Given the description of an element on the screen output the (x, y) to click on. 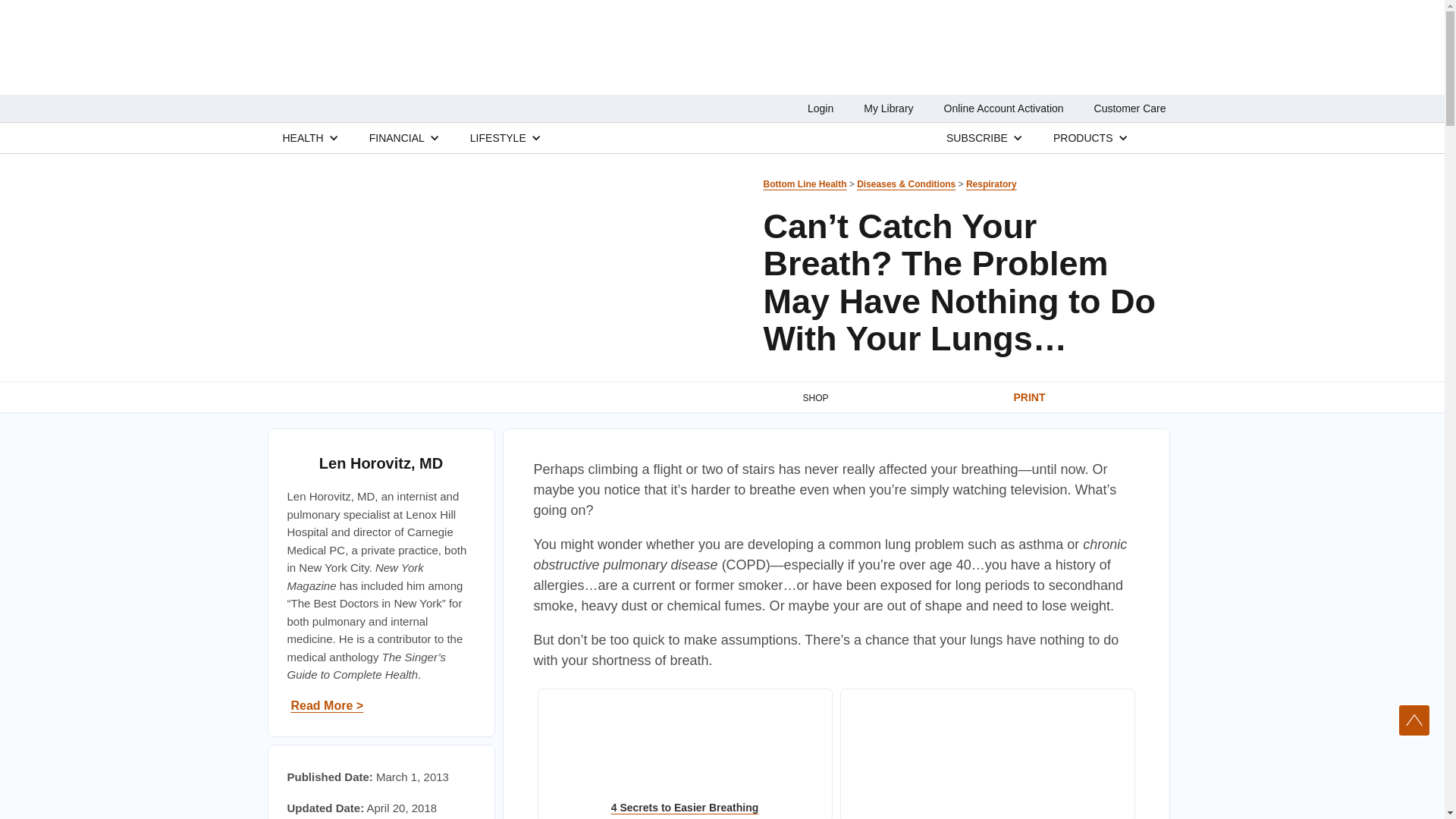
Scroll To Top (1414, 720)
Scroll To Top (1414, 720)
My Library (887, 108)
Online Account Activation (1003, 108)
FINANCIAL (397, 137)
HEALTH (302, 137)
Customer Care (1130, 108)
Login (820, 108)
LIFESTYLE (497, 137)
Scroll To Top (1414, 720)
